Given the description of an element on the screen output the (x, y) to click on. 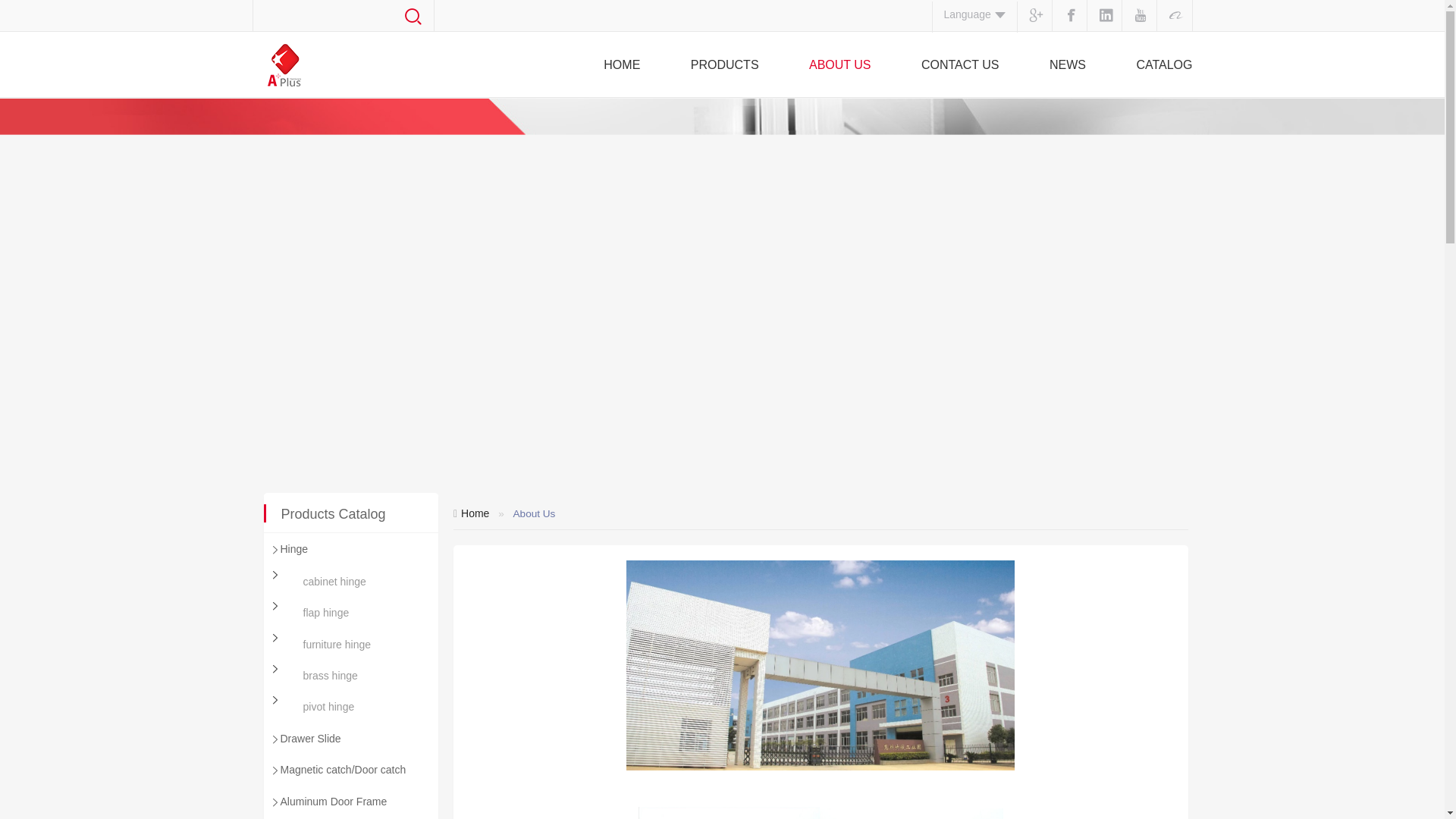
1563666813498497.png (729, 812)
CATALOG (1163, 65)
PRODUCTS (724, 65)
1563666821271347.png (911, 813)
NEWS (1067, 65)
ABOUT US (839, 65)
CONTACT US (959, 65)
HOME (622, 65)
1563666788464137.png (820, 677)
Language (974, 14)
